Given the description of an element on the screen output the (x, y) to click on. 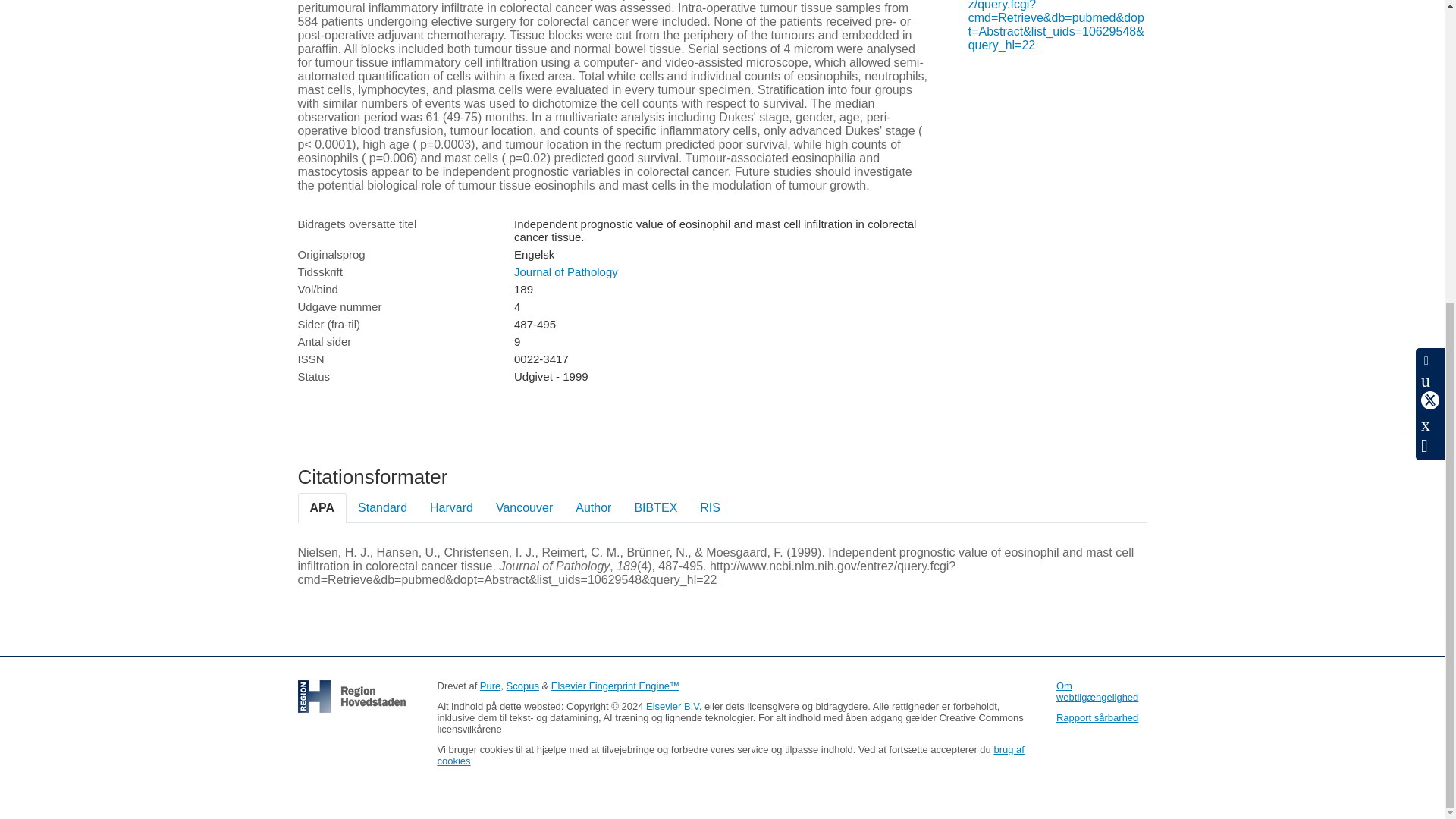
Journal of Pathology (565, 271)
Pure (490, 685)
Elsevier B.V. (673, 706)
Scopus (522, 685)
brug af cookies (729, 754)
